Given the description of an element on the screen output the (x, y) to click on. 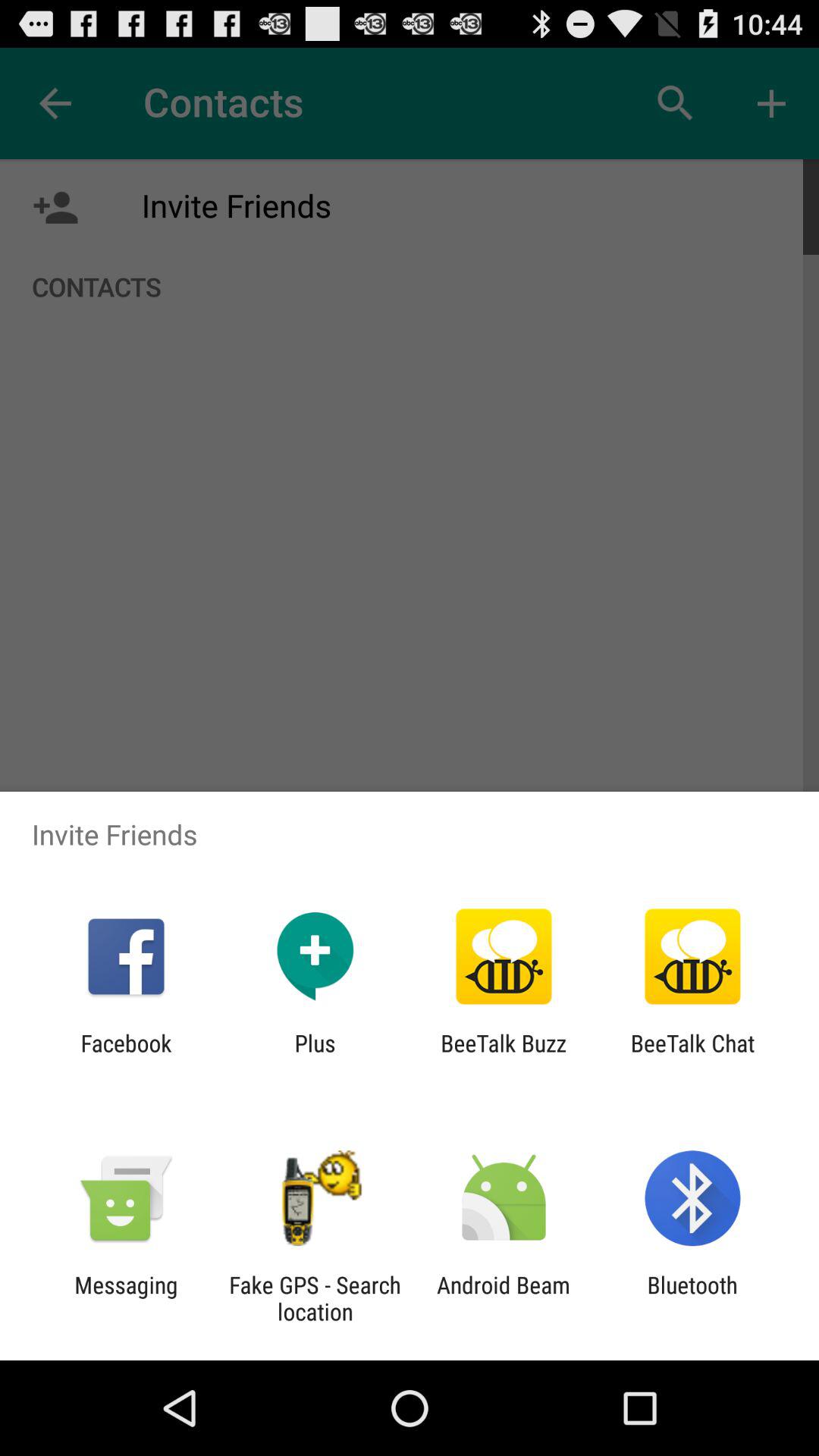
tap the item next to the plus app (125, 1056)
